Given the description of an element on the screen output the (x, y) to click on. 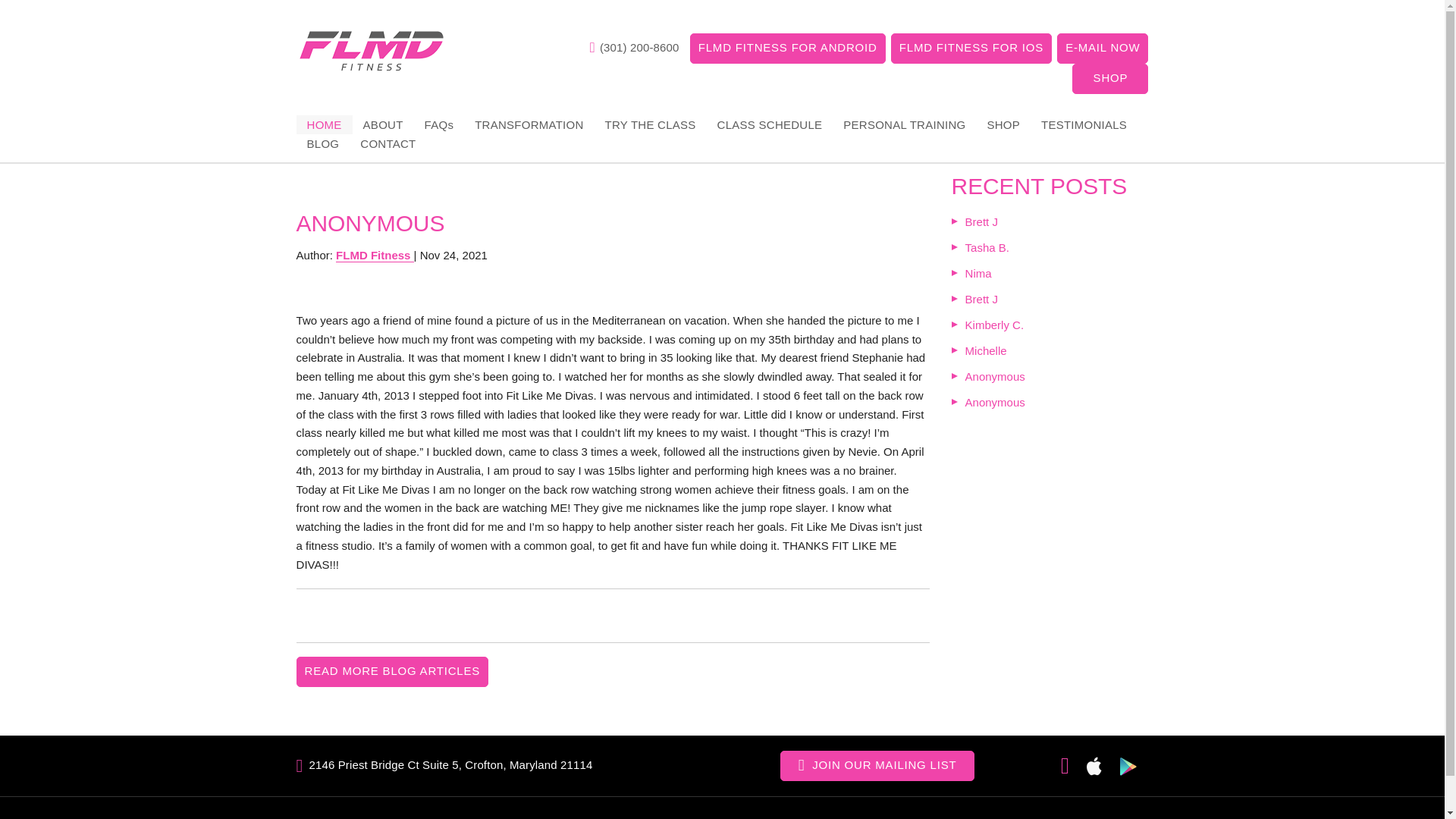
FAQs (438, 124)
CLASS SCHEDULE (769, 124)
FLMD FITNESS FOR ANDROID (787, 48)
FLMD FITNESS FOR IOS (971, 48)
E-MAIL NOW (1102, 48)
HOME (324, 124)
TRY THE CLASS (650, 124)
SHOP (1109, 78)
TRANSFORMATION (529, 124)
ABOUT (382, 124)
